Given the description of an element on the screen output the (x, y) to click on. 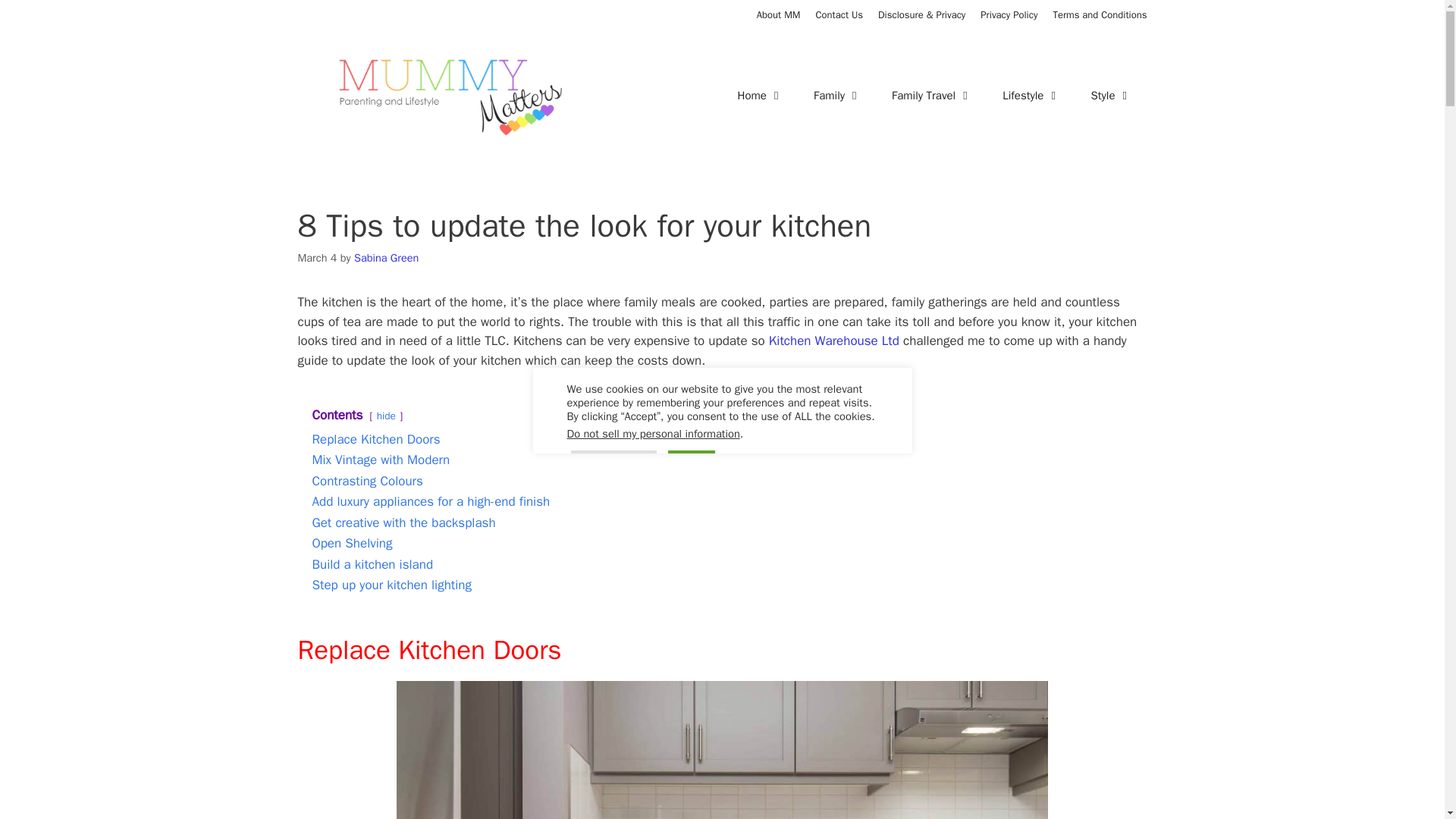
Home (759, 94)
Privacy Policy (1007, 14)
About MM (778, 14)
Contact Us (839, 14)
Replacement Kitchen doors (722, 749)
View all posts by Sabina Green (386, 257)
Terms and Conditions (1099, 14)
Family (836, 94)
Work with Mummy Matters (839, 14)
Who is Mummy Matters? (778, 14)
